Given the description of an element on the screen output the (x, y) to click on. 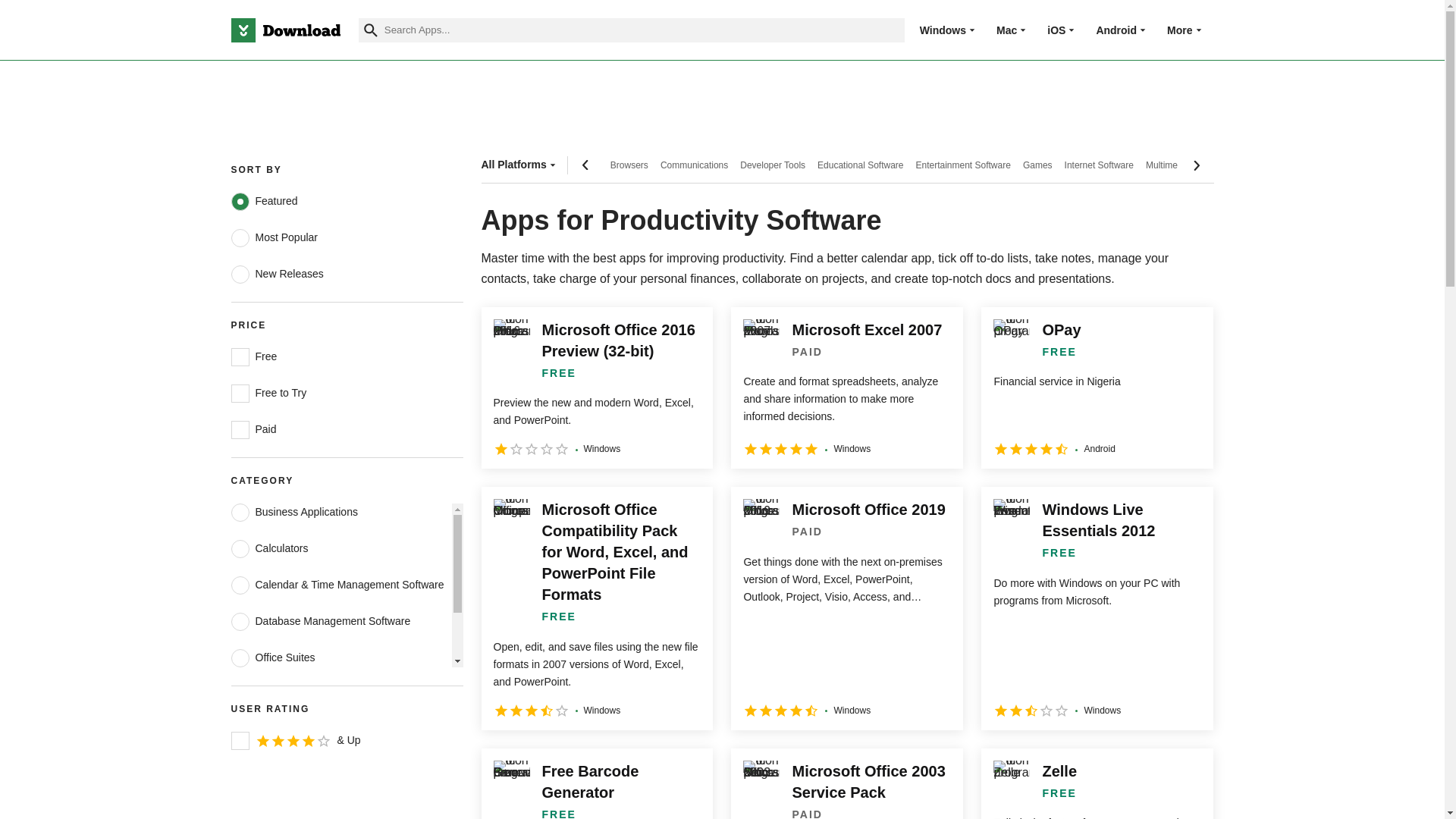
OPay (1096, 387)
paid (239, 429)
Free Barcode Generator (596, 783)
utilities-calculators (239, 548)
business-office-suites (239, 658)
Microsoft Office 2003 Service Pack (846, 783)
Windows (943, 29)
Mac (1005, 29)
project-management-software (239, 694)
freeToTry (239, 393)
